Given the description of an element on the screen output the (x, y) to click on. 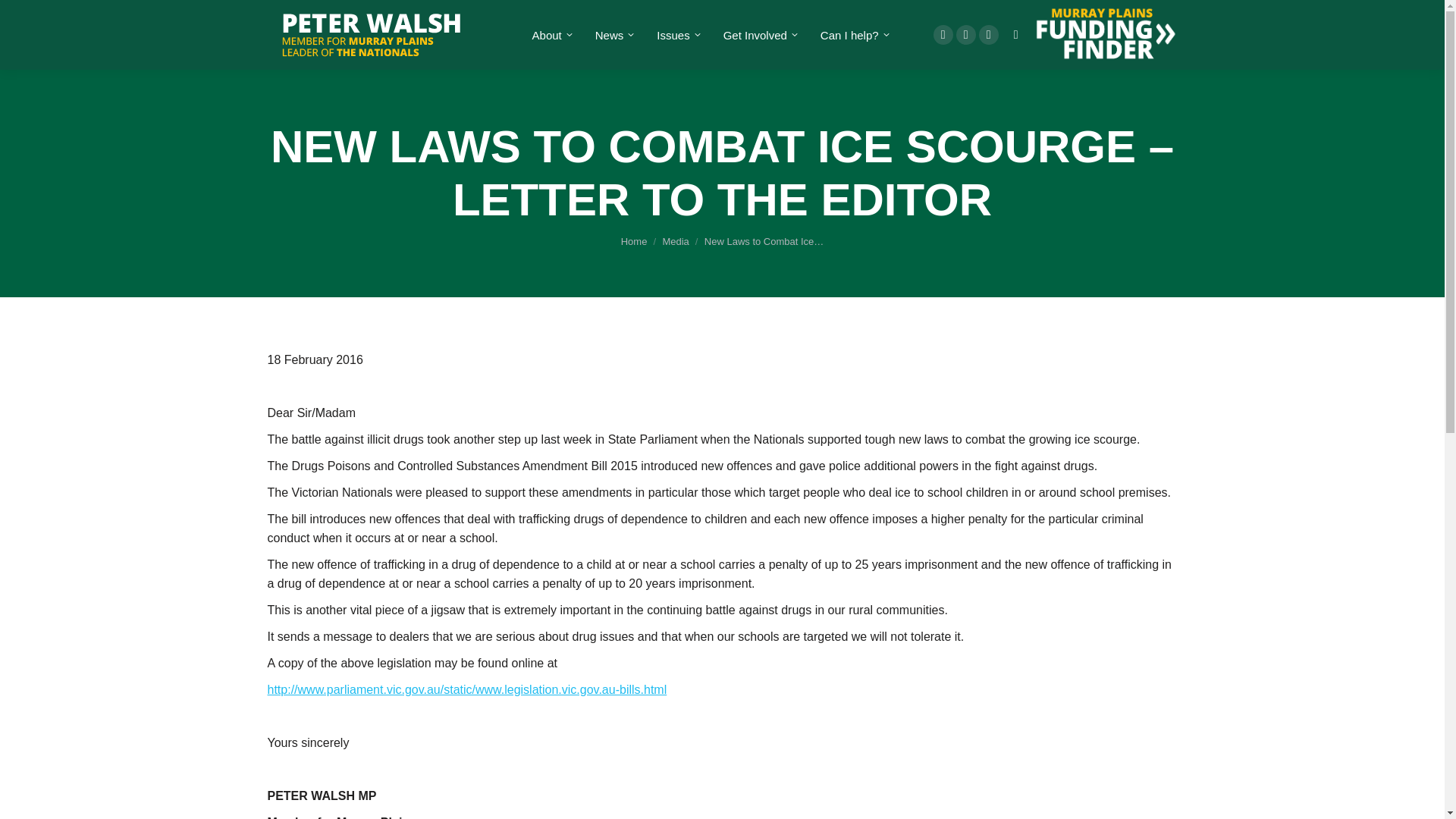
Can I help? (852, 34)
Facebook page opens in new window (943, 35)
Facebook page opens in new window (943, 35)
Get Involved (758, 34)
X page opens in new window (965, 35)
Instagram page opens in new window (988, 35)
Go! (24, 16)
X page opens in new window (965, 35)
About (550, 34)
News (612, 34)
